Given the description of an element on the screen output the (x, y) to click on. 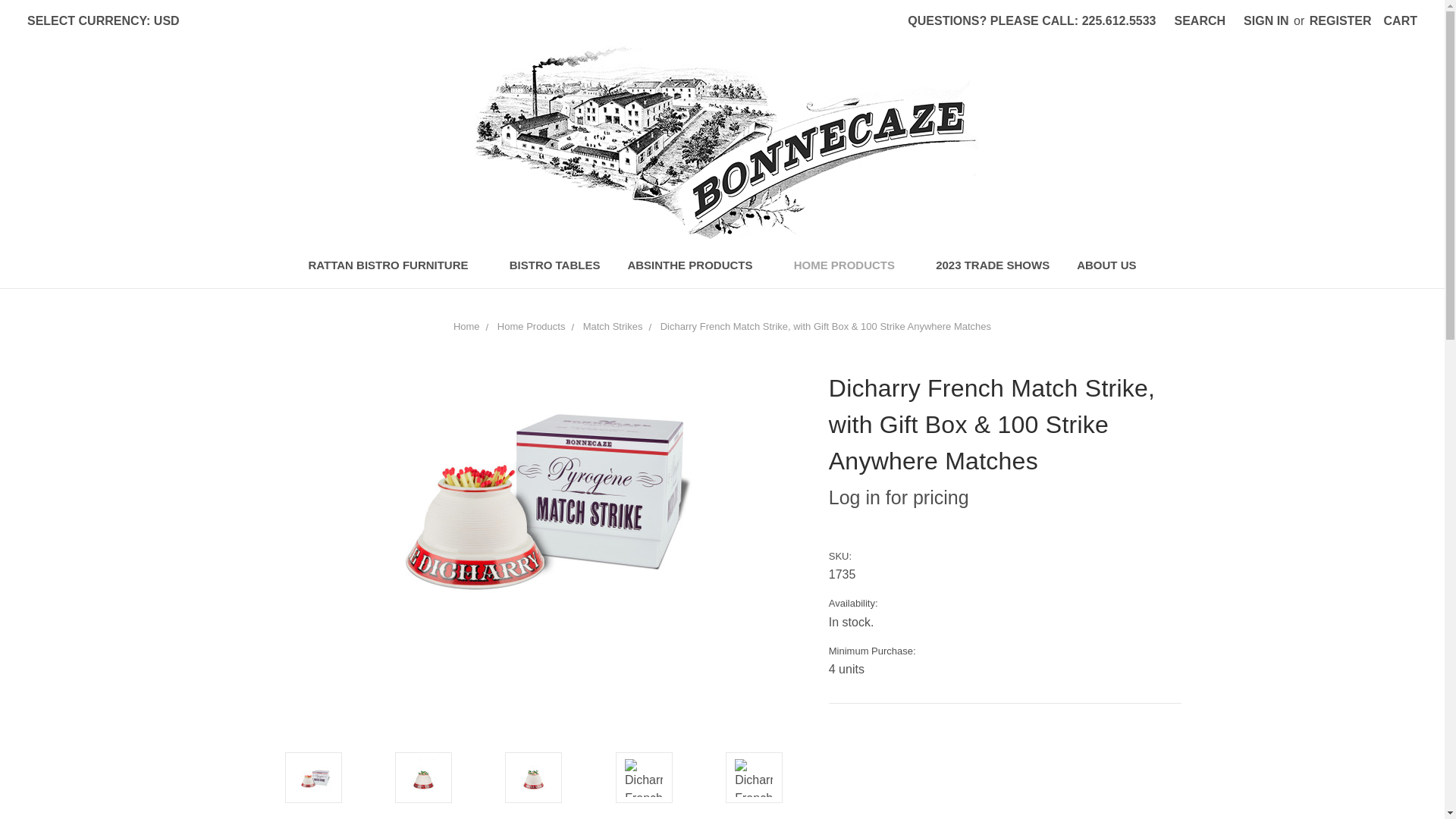
BISTRO TABLES (555, 268)
ABSINTHE PRODUCTS (695, 268)
HOME PRODUCTS (851, 268)
RATTAN BISTRO FURNITURE (394, 268)
SIGN IN (1266, 21)
REGISTER (1340, 21)
CART (1400, 21)
SEARCH (1199, 21)
SELECT CURRENCY: USD (108, 21)
